Given the description of an element on the screen output the (x, y) to click on. 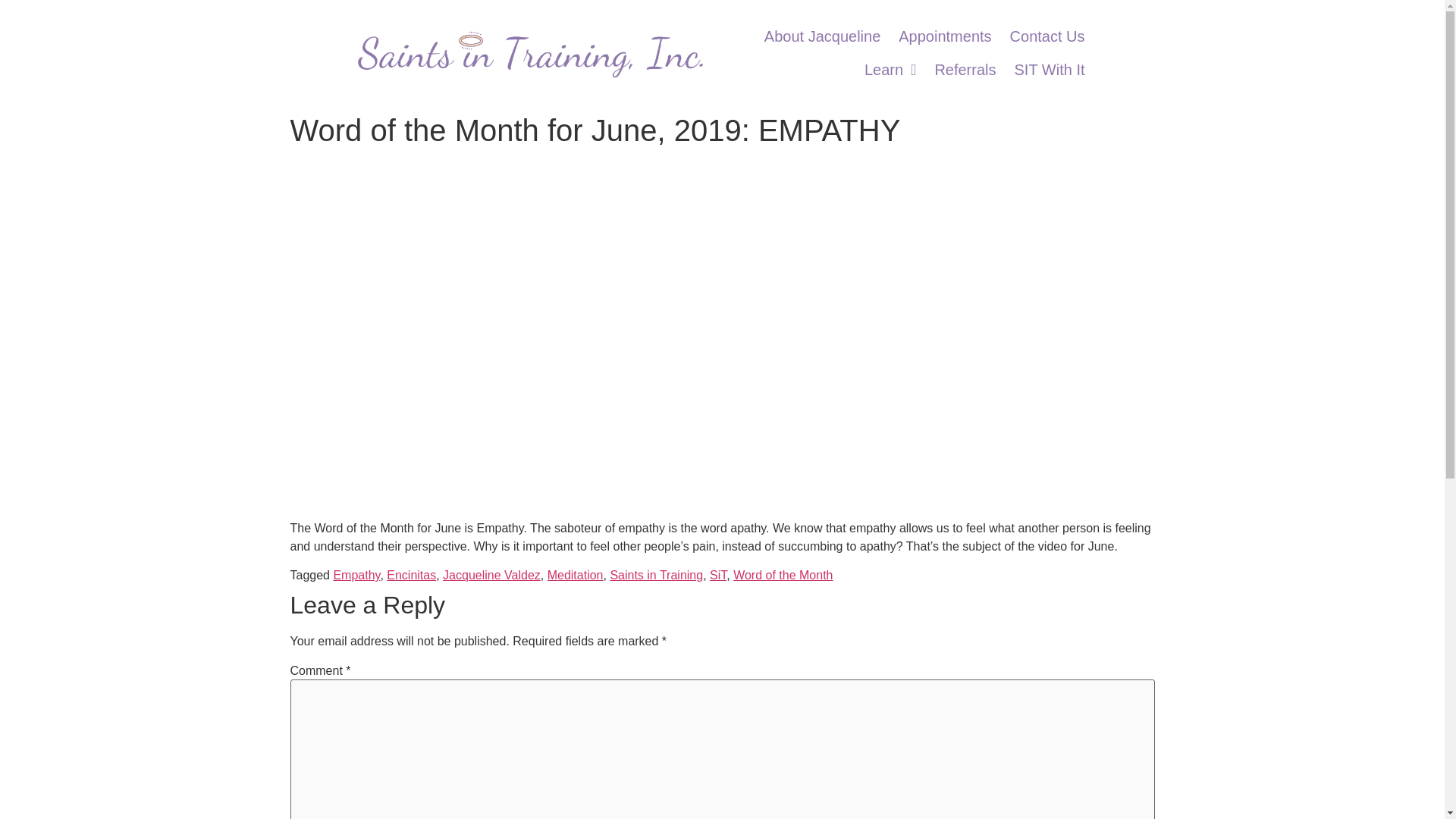
Referrals (964, 61)
SIT With It (1050, 62)
Learn (890, 20)
